Given the description of an element on the screen output the (x, y) to click on. 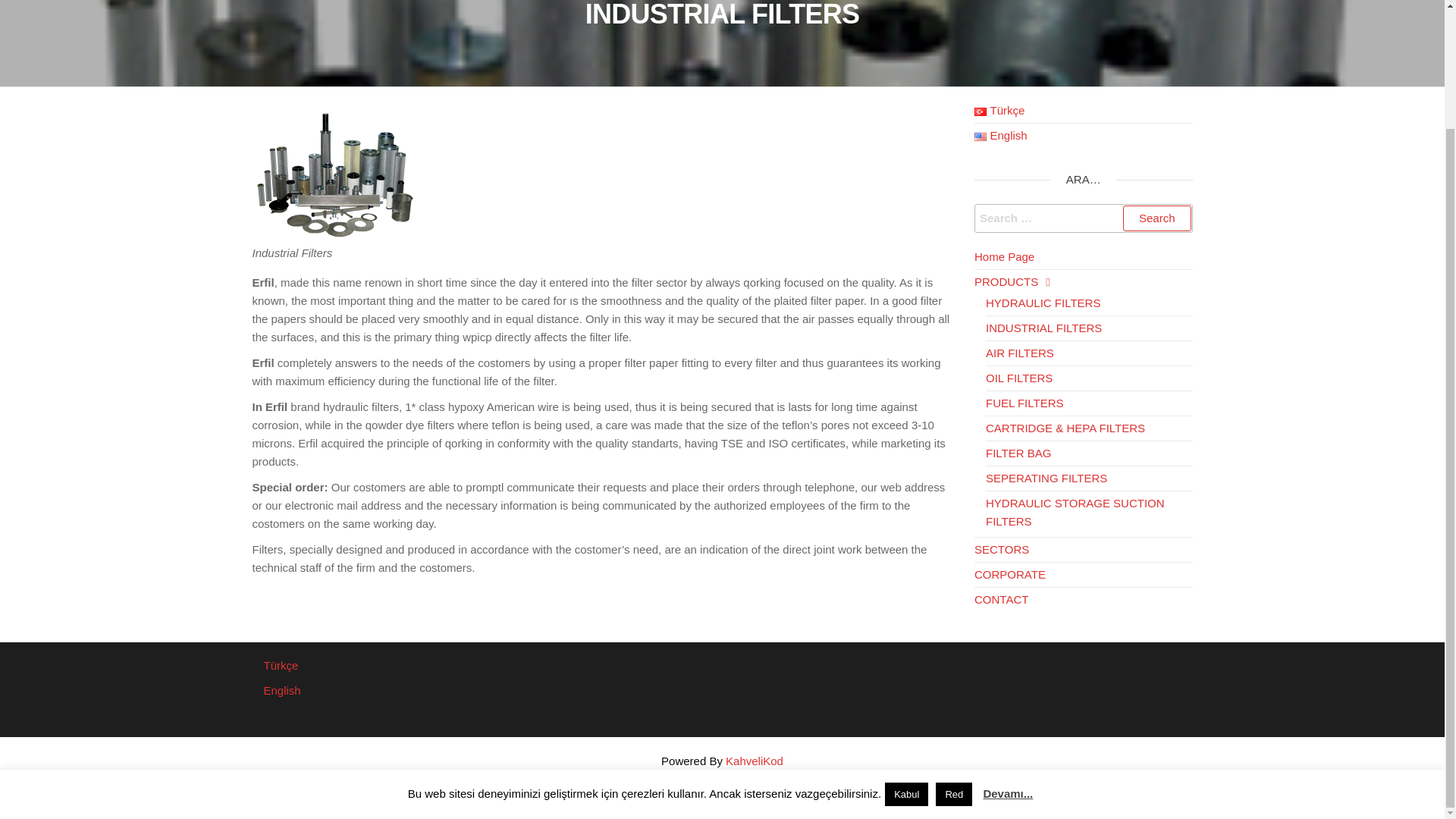
HYDRAULIC STORAGE SUCTION FILTERS (1074, 511)
OIL FILTERS (1018, 377)
English (1000, 134)
Home Page (1003, 256)
SECTORS (1001, 549)
Search (1156, 217)
AIR FILTERS (1019, 352)
HYDRAULIC FILTERS (1042, 302)
FILTER BAG (1018, 452)
Search (1156, 217)
KahveliKod (754, 760)
CONTACT (1000, 599)
PRODUCTS (1011, 281)
Search (1156, 217)
INDUSTRIAL FILTERS (1043, 327)
